Given the description of an element on the screen output the (x, y) to click on. 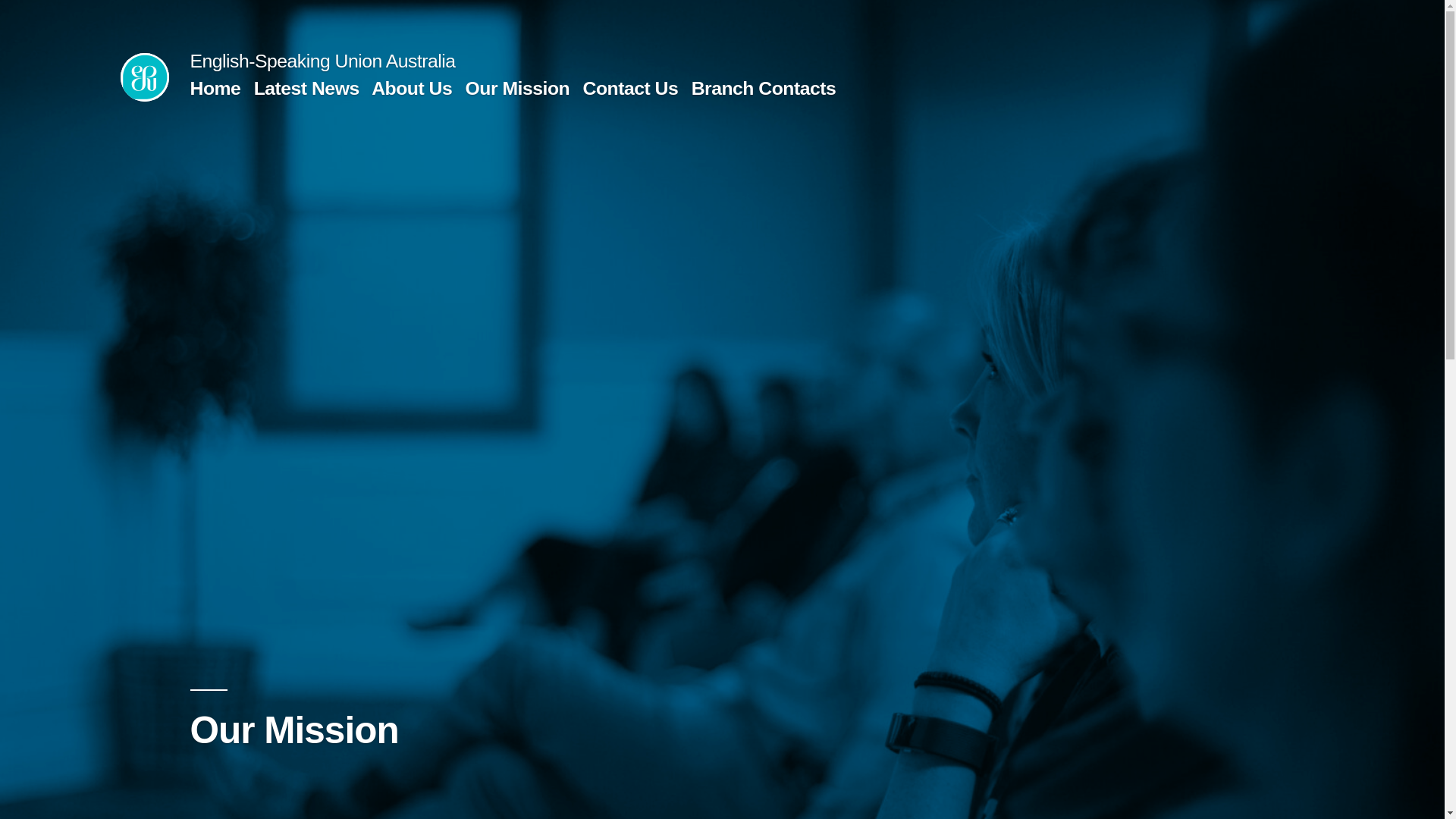
Latest News Element type: text (306, 88)
Branch Contacts Element type: text (763, 88)
About Us Element type: text (411, 88)
Home Element type: text (214, 88)
Our Mission Element type: text (517, 88)
Contact Us Element type: text (630, 88)
English-Speaking Union Australia Element type: text (322, 60)
